Given the description of an element on the screen output the (x, y) to click on. 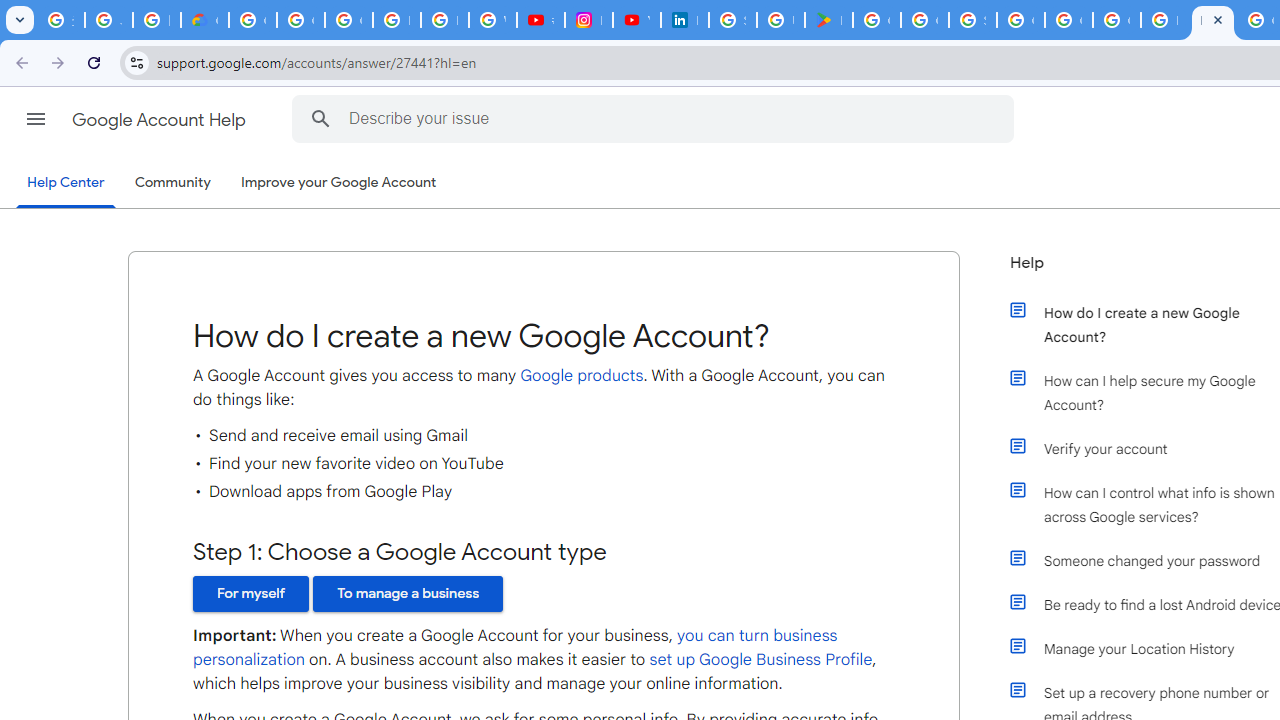
#nbabasketballhighlights - YouTube (540, 20)
Community (171, 183)
How do I create a new Google Account? - Google Account Help (1212, 20)
To manage a business (408, 594)
Google Workspace - Specific Terms (924, 20)
For myself (251, 594)
Privacy Help Center - Policies Help (444, 20)
